Given the description of an element on the screen output the (x, y) to click on. 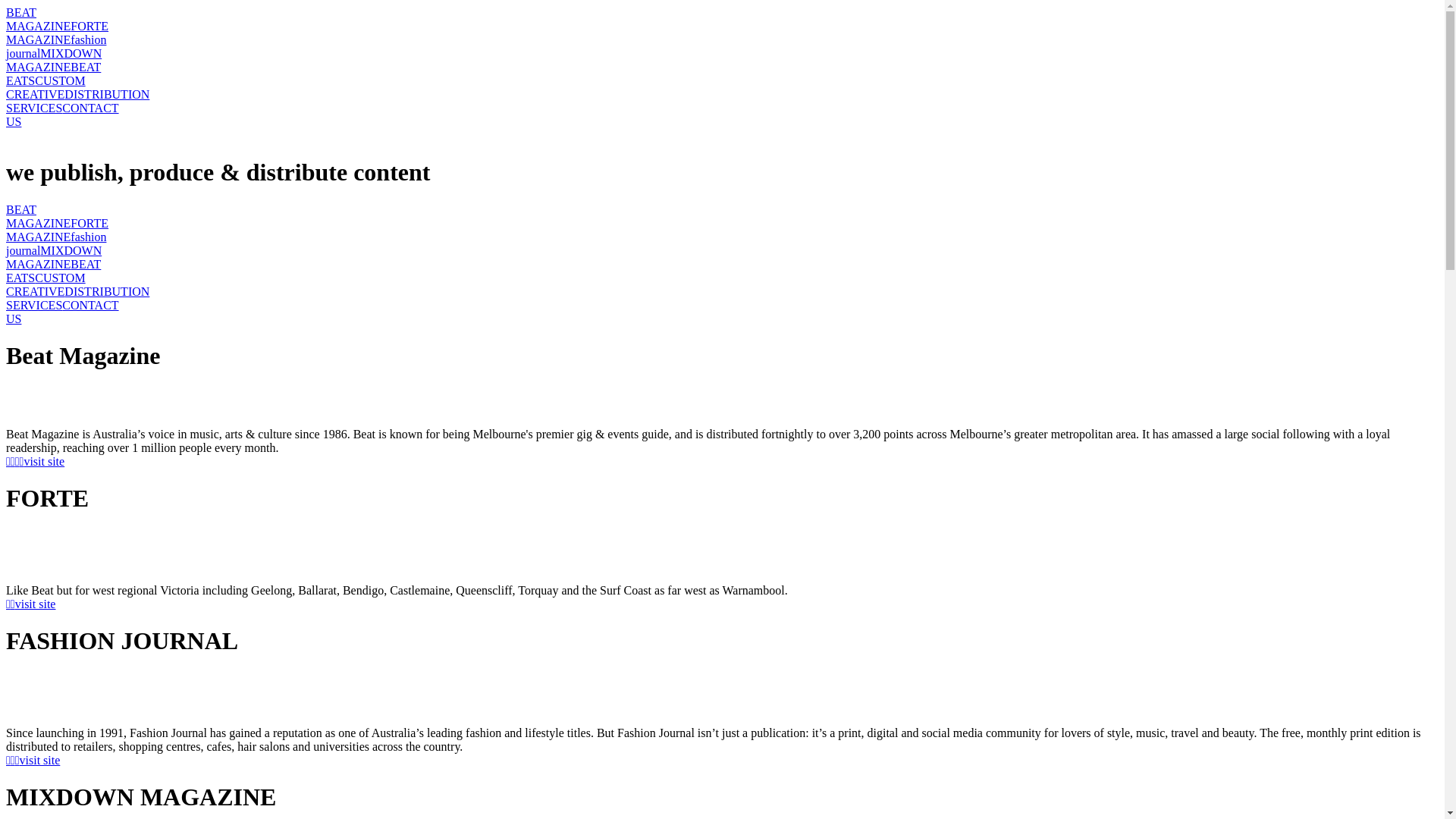
BEAT
MAGAZINE Element type: text (38, 216)
CONTACT
US Element type: text (62, 311)
fashion
journal Element type: text (56, 243)
BEAT
MAGAZINE Element type: text (38, 19)
MIXDOWN
MAGAZINE Element type: text (53, 257)
BEAT
EATS Element type: text (53, 270)
visit site Element type: text (43, 461)
fashion
journal Element type: text (56, 46)
CONTACT
US Element type: text (62, 114)
DISTRIBUTION
SERVICES Element type: text (77, 298)
MIXDOWN
MAGAZINE Element type: text (53, 60)
FORTE
MAGAZINE Element type: text (57, 229)
DISTRIBUTION
SERVICES Element type: text (77, 100)
visit site Element type: text (39, 759)
FORTE
MAGAZINE Element type: text (57, 32)
BEAT
EATS Element type: text (53, 73)
CUSTOM
CREATIVE Element type: text (45, 87)
CUSTOM
CREATIVE Element type: text (45, 284)
visit site Element type: text (35, 603)
